Given the description of an element on the screen output the (x, y) to click on. 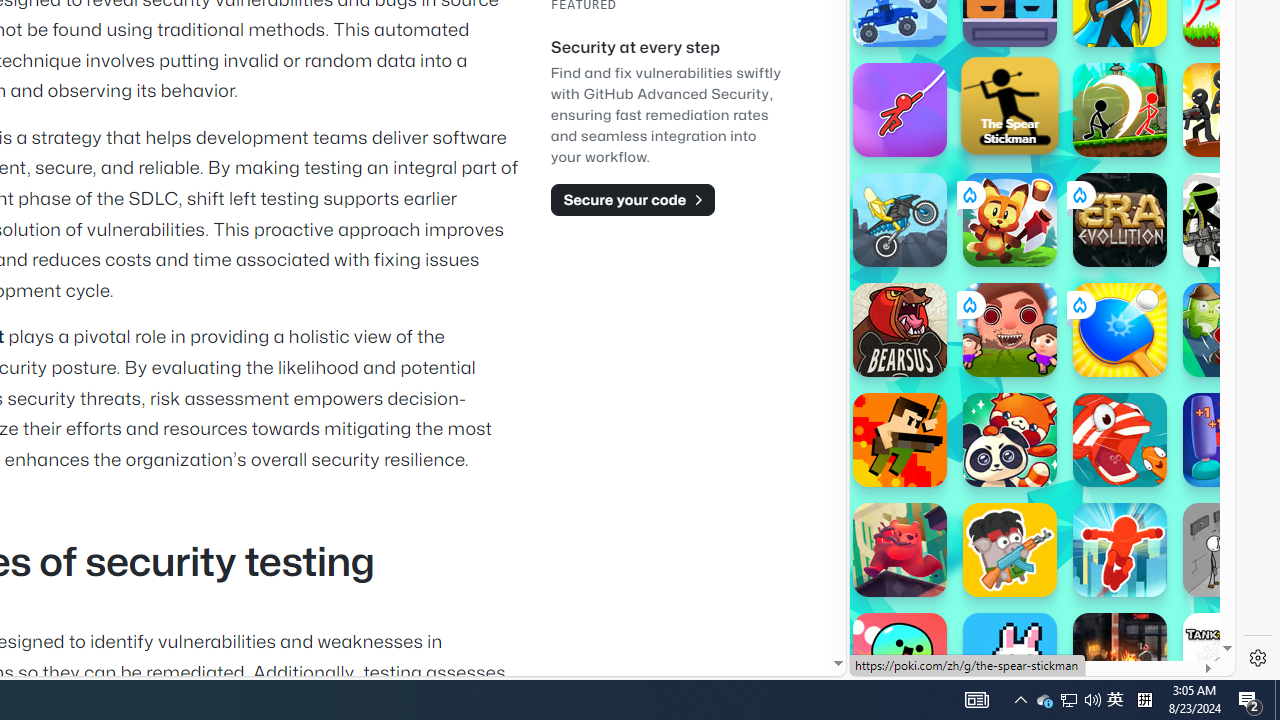
Hills of Steel (925, 290)
Bearsus (899, 329)
Earth's Greatest Defender Earth's Greatest Defender (899, 439)
Shady Bears Shady Bears (899, 549)
Poor Bunny (1009, 659)
Stickman Army: The Defenders (1229, 219)
Search (1169, 61)
The Spear Stickman (1009, 105)
Hills of Steel (943, 300)
Double Panda (1009, 439)
Shady Bears (899, 549)
Punch Legend Simulator Punch Legend Simulator (1229, 439)
Tank Trouble Tank Trouble (1229, 659)
